Given the description of an element on the screen output the (x, y) to click on. 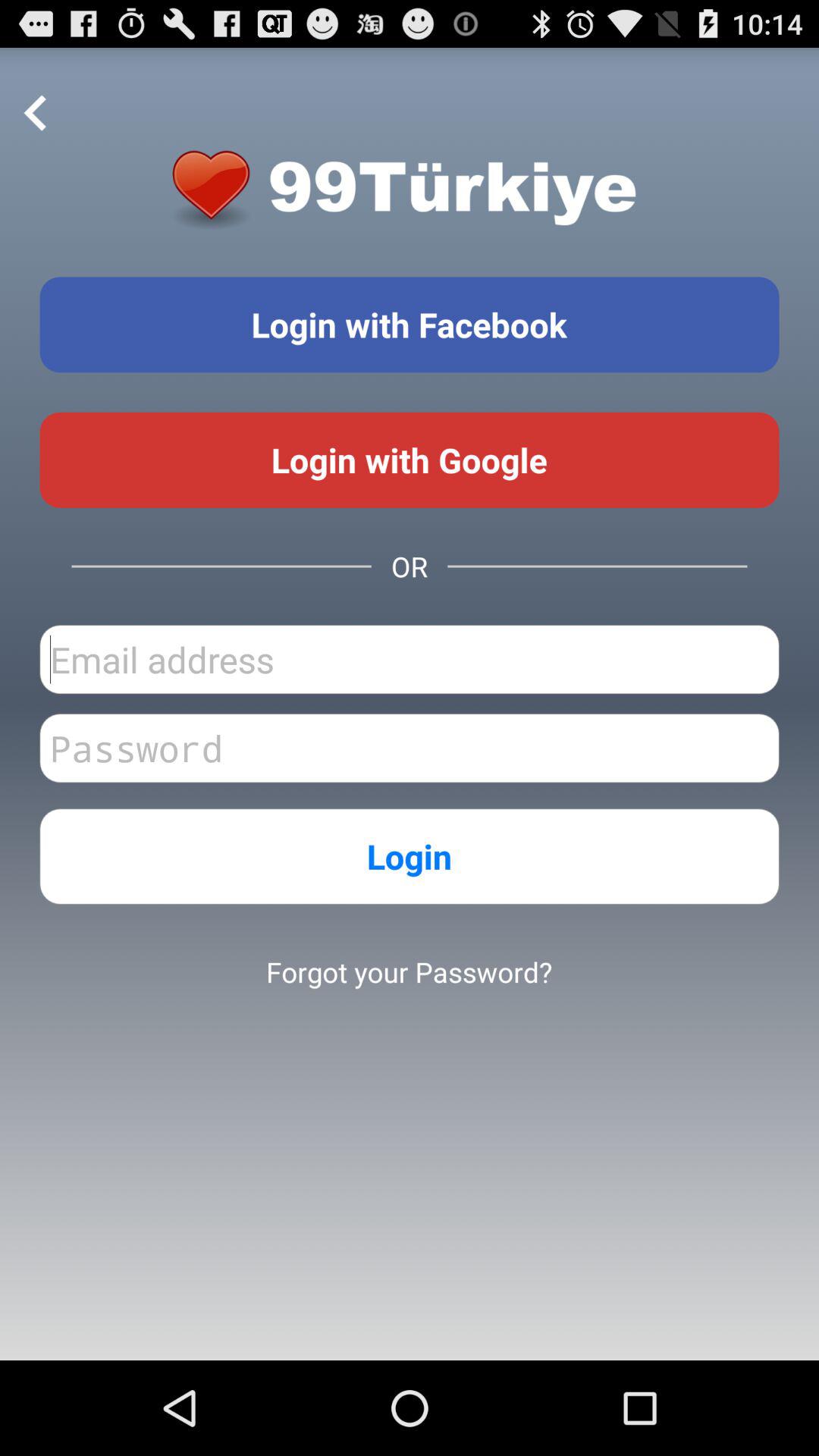
login with google account (409, 459)
